Given the description of an element on the screen output the (x, y) to click on. 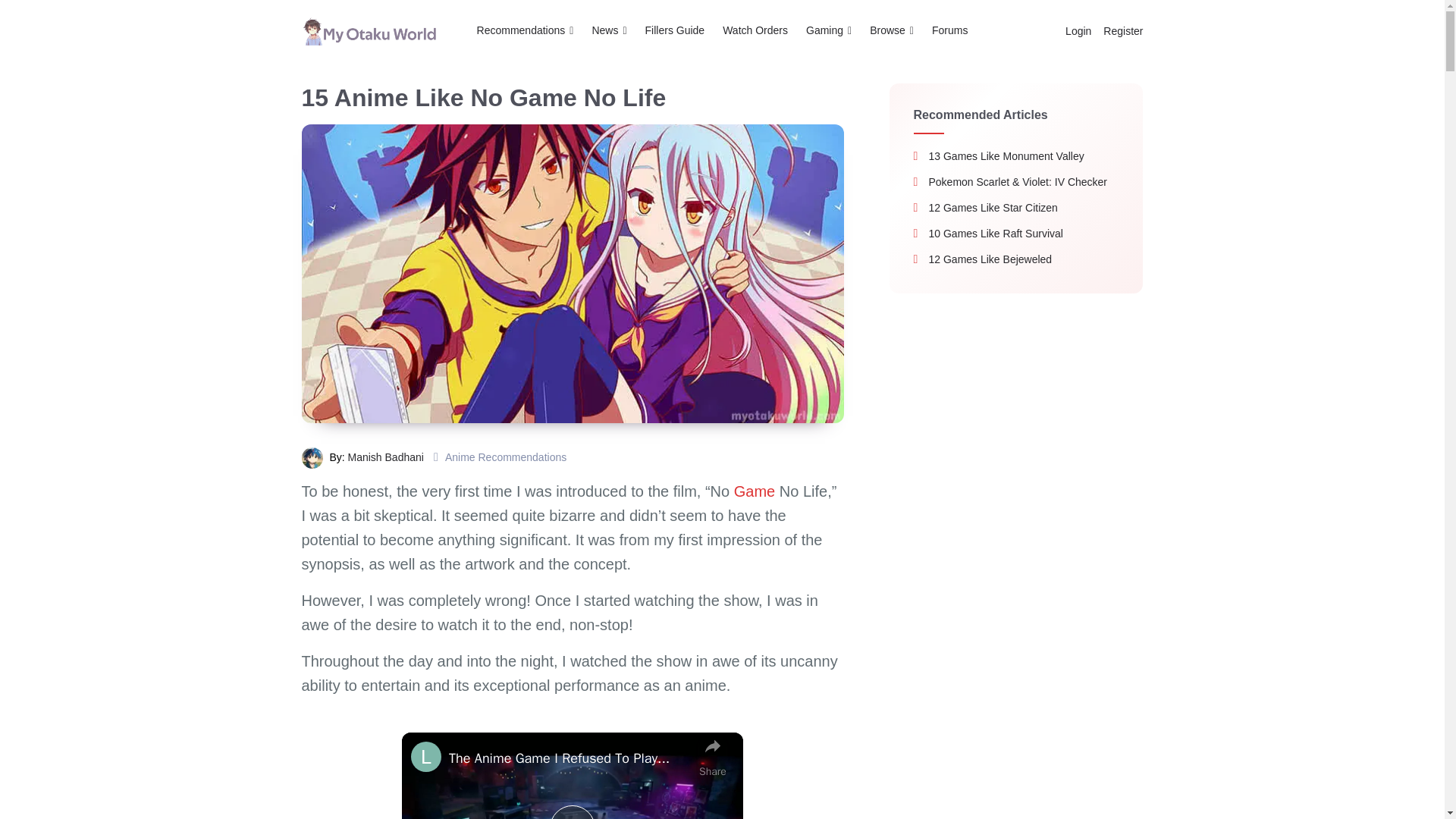
Recommendations (530, 30)
Register (1119, 30)
Gaming (828, 30)
Watch Orders (754, 30)
My Otaku World (369, 30)
Fillers Guide (675, 30)
Fillers Guide (675, 30)
Gaming (828, 30)
Login (1078, 30)
Browse (891, 30)
Watch Orders (754, 30)
Recommendations (530, 30)
